Given the description of an element on the screen output the (x, y) to click on. 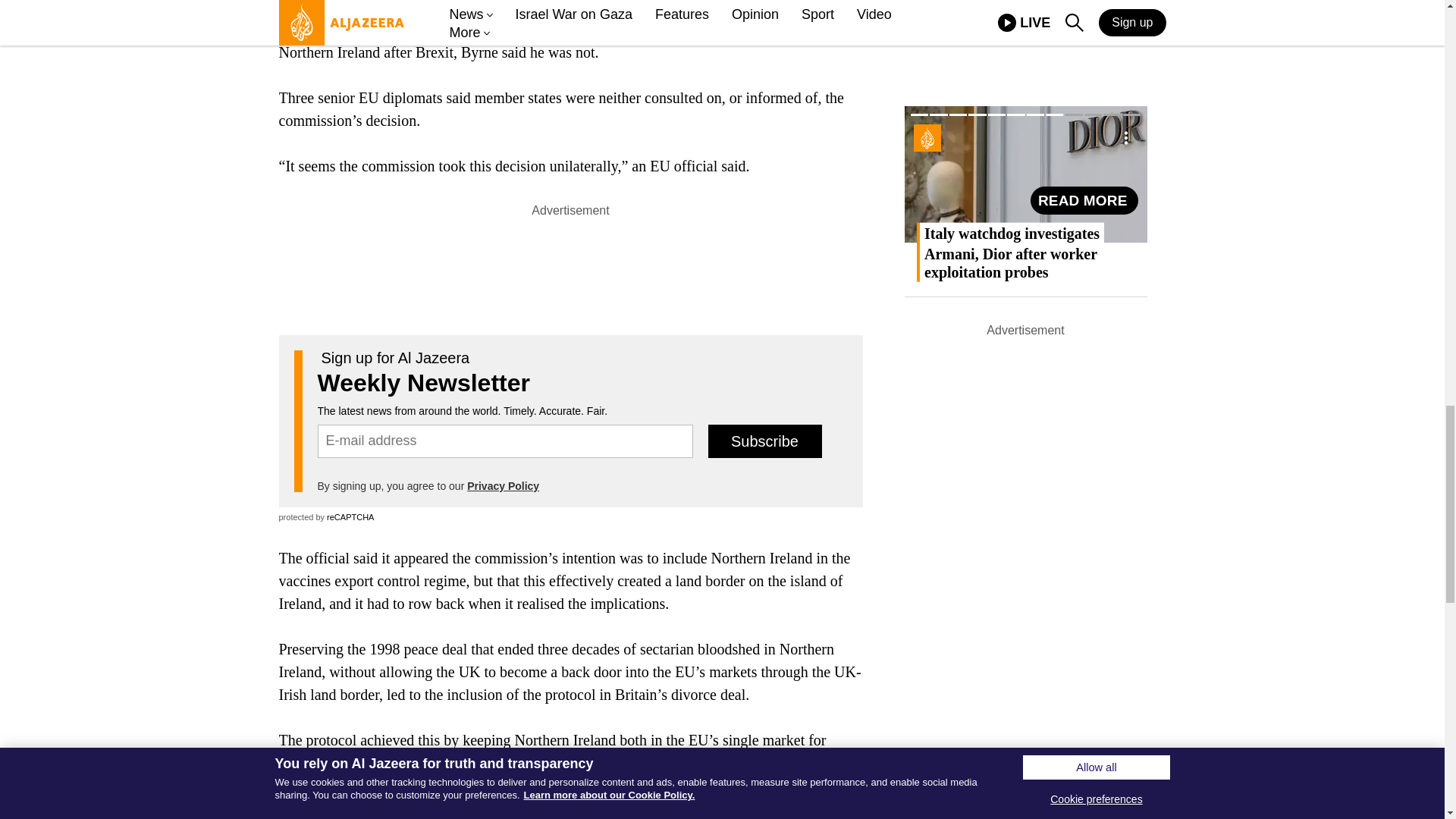
3rd party ad content (569, 255)
